Given the description of an element on the screen output the (x, y) to click on. 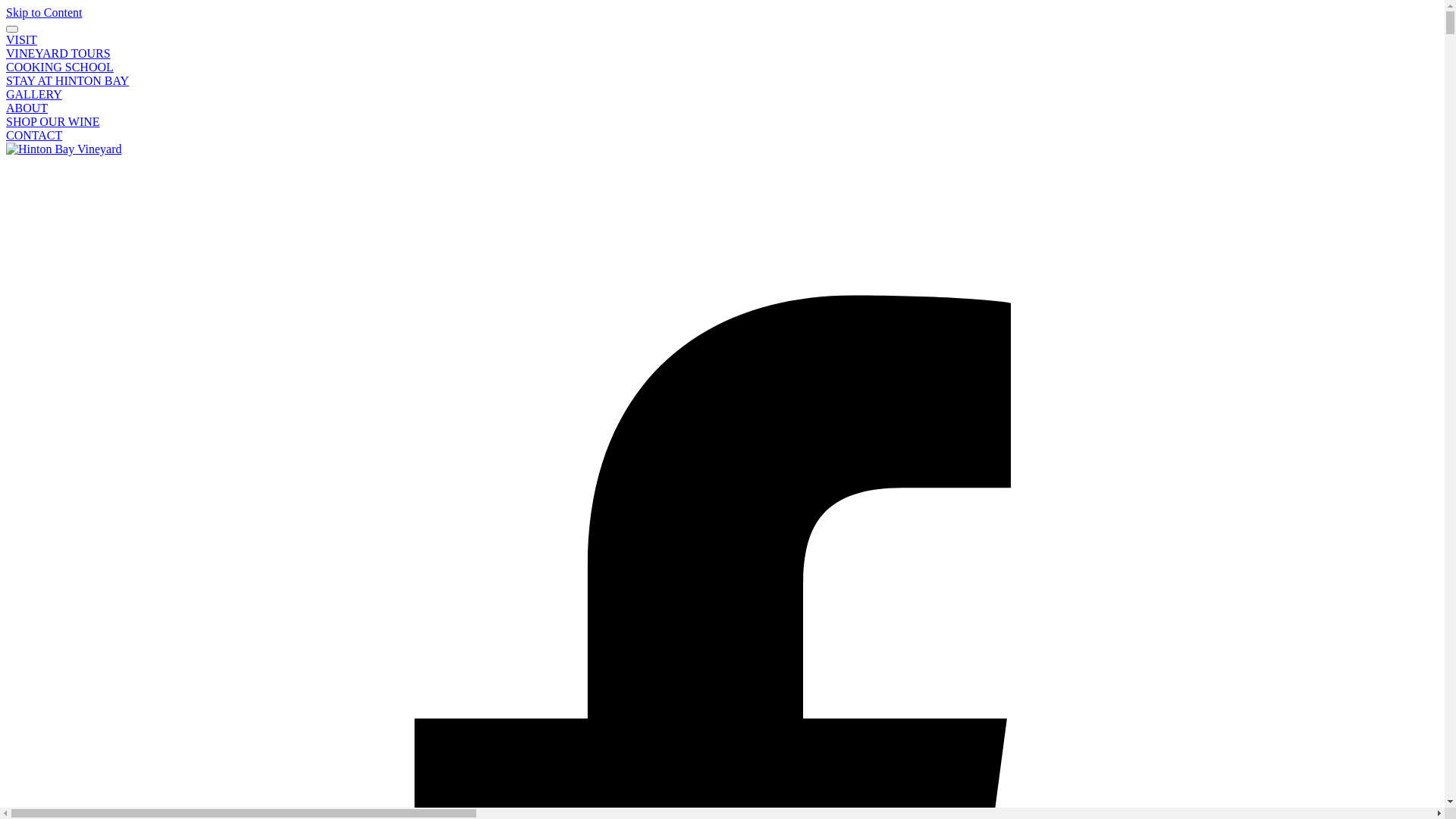
ABOUT Element type: text (26, 107)
VISIT Element type: text (21, 39)
COOKING SCHOOL Element type: text (59, 66)
Skip to Content Element type: text (43, 12)
STAY AT HINTON BAY Element type: text (67, 80)
VINEYARD TOURS Element type: text (58, 53)
GALLERY Element type: text (34, 93)
SHOP OUR WINE Element type: text (53, 121)
CONTACT Element type: text (34, 134)
